Given the description of an element on the screen output the (x, y) to click on. 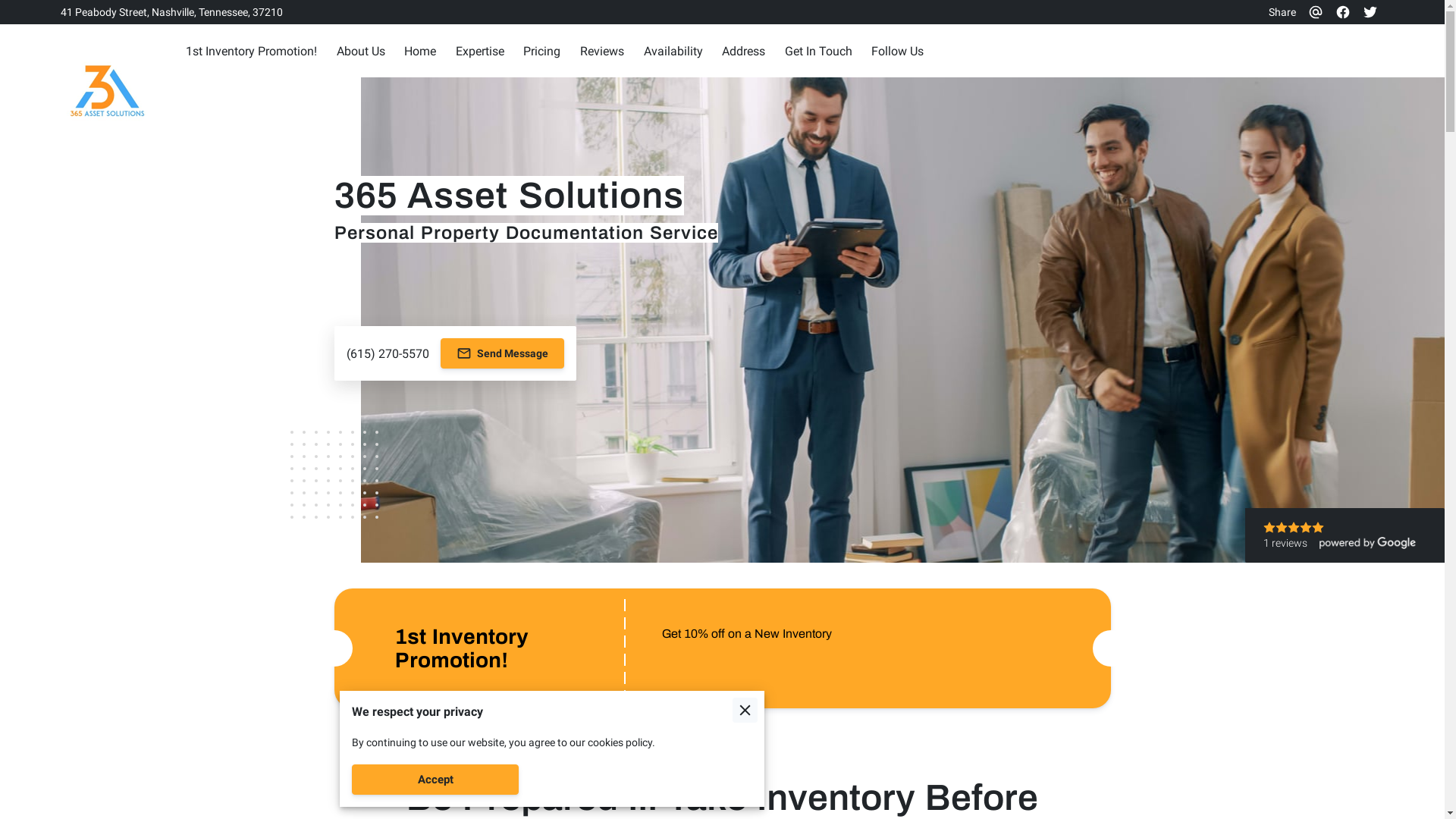
1st Inventory Promotion! Element type: text (250, 50)
Home Element type: text (420, 50)
Get In Touch Element type: text (818, 50)
Follow Us Element type: text (897, 50)
Availability Element type: text (672, 50)
About Us Element type: text (360, 50)
Accept Element type: text (434, 779)
Address Element type: text (743, 50)
41 Peabody Street, Nashville, Tennessee, 37210 Element type: text (171, 12)
Send Message Element type: text (502, 353)
Expertise Element type: text (479, 50)
Reviews Element type: text (602, 50)
Pricing Element type: text (541, 50)
(615) 270-5570 Element type: text (386, 352)
